Given the description of an element on the screen output the (x, y) to click on. 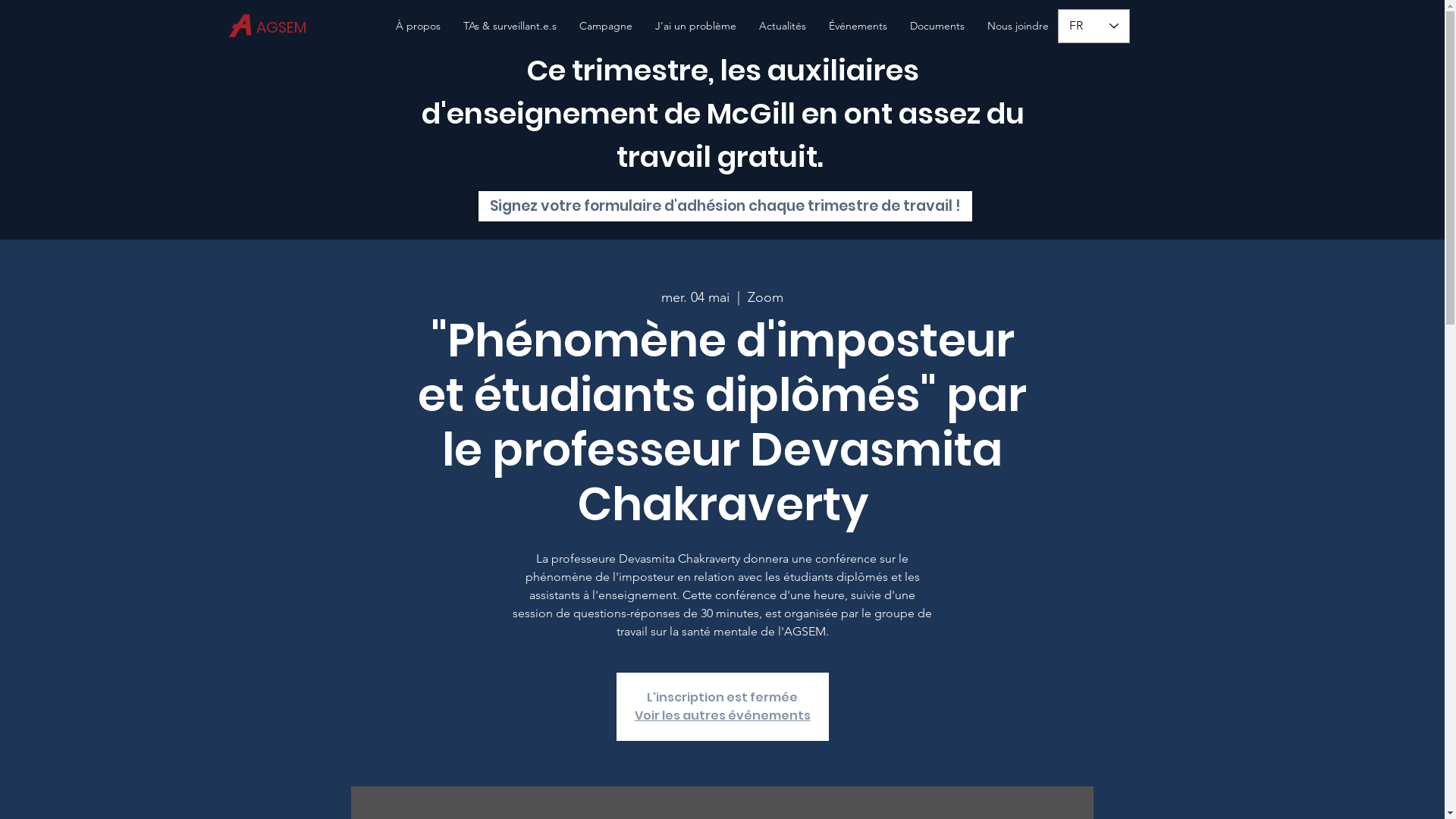
Nous joindre Element type: text (1017, 26)
AGSEM Element type: text (283, 26)
Documents Element type: text (936, 26)
Campagne Element type: text (605, 26)
TAs & surveillant.e.s Element type: text (509, 26)
